Given the description of an element on the screen output the (x, y) to click on. 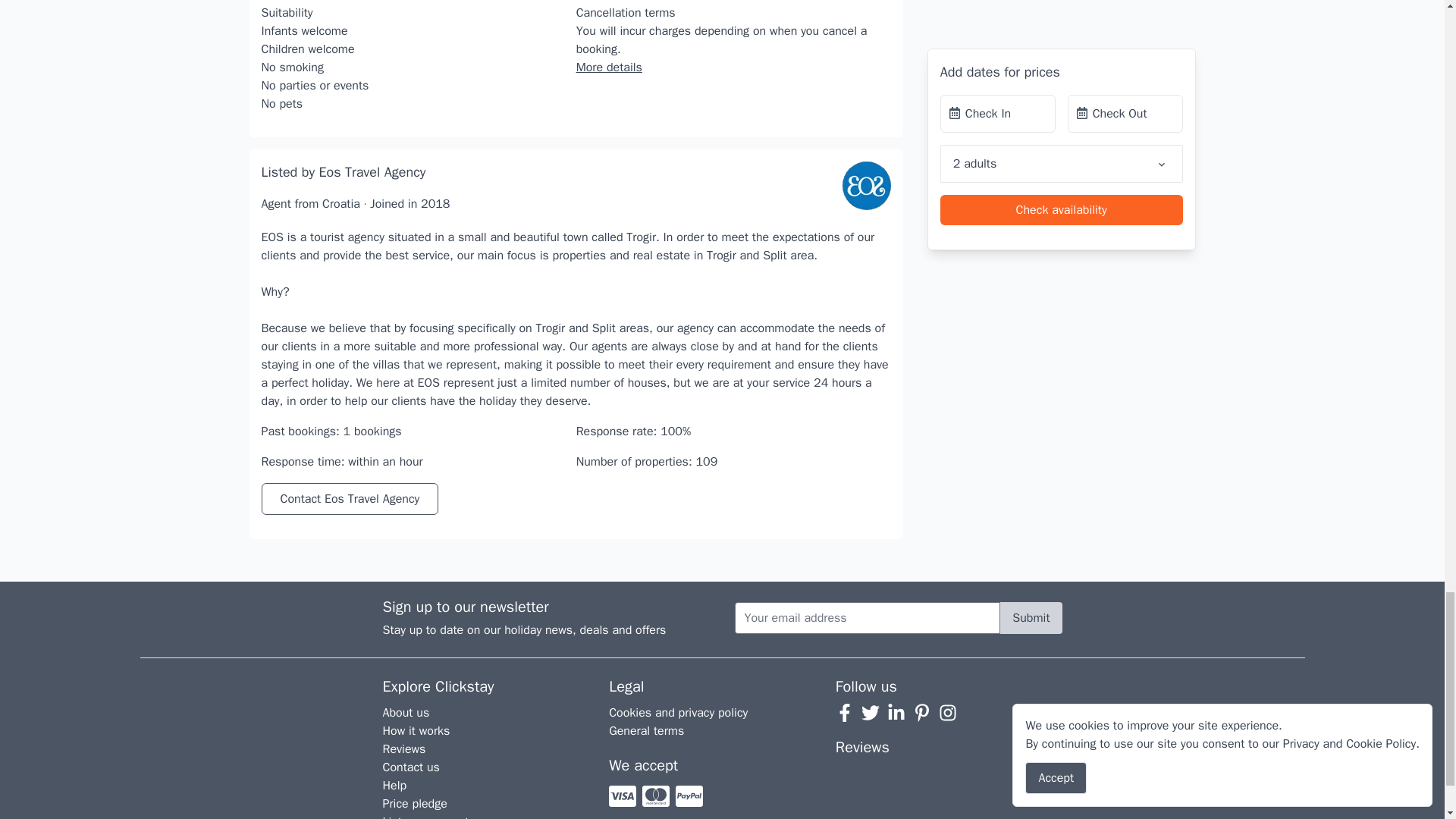
Contact us (410, 767)
About us (405, 712)
General terms (646, 730)
How it works (415, 730)
Contact Eos Travel Agency (349, 499)
More details (609, 67)
Help (394, 785)
Cookies and privacy policy (678, 712)
List your property (428, 816)
Submit (1030, 617)
Reviews (404, 749)
Price pledge (414, 803)
